Given the description of an element on the screen output the (x, y) to click on. 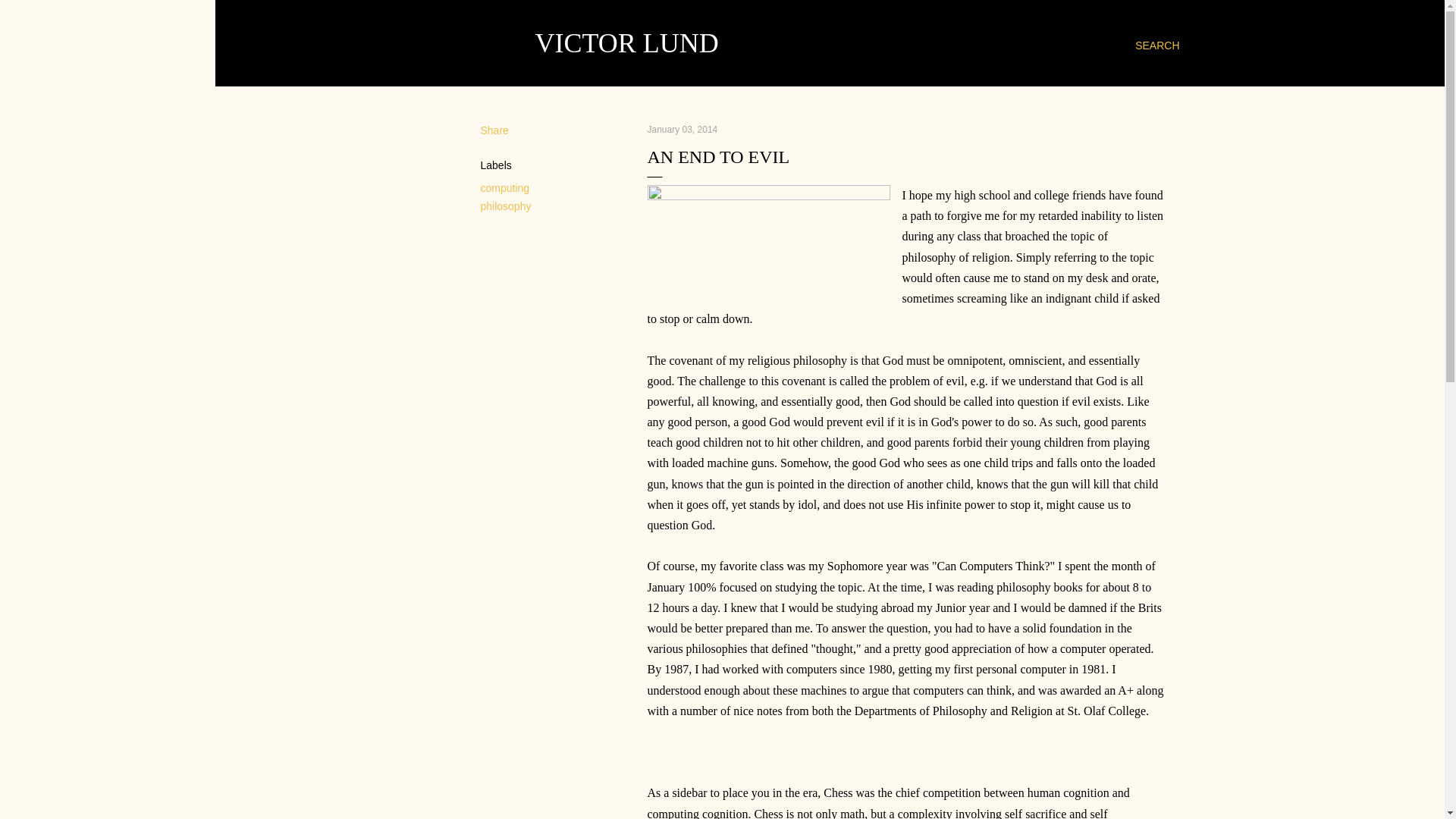
philosophy (505, 205)
SEARCH (1157, 45)
VICTOR LUND (627, 42)
Share (494, 130)
permanent link (682, 129)
computing (504, 187)
January 03, 2014 (682, 129)
